Given the description of an element on the screen output the (x, y) to click on. 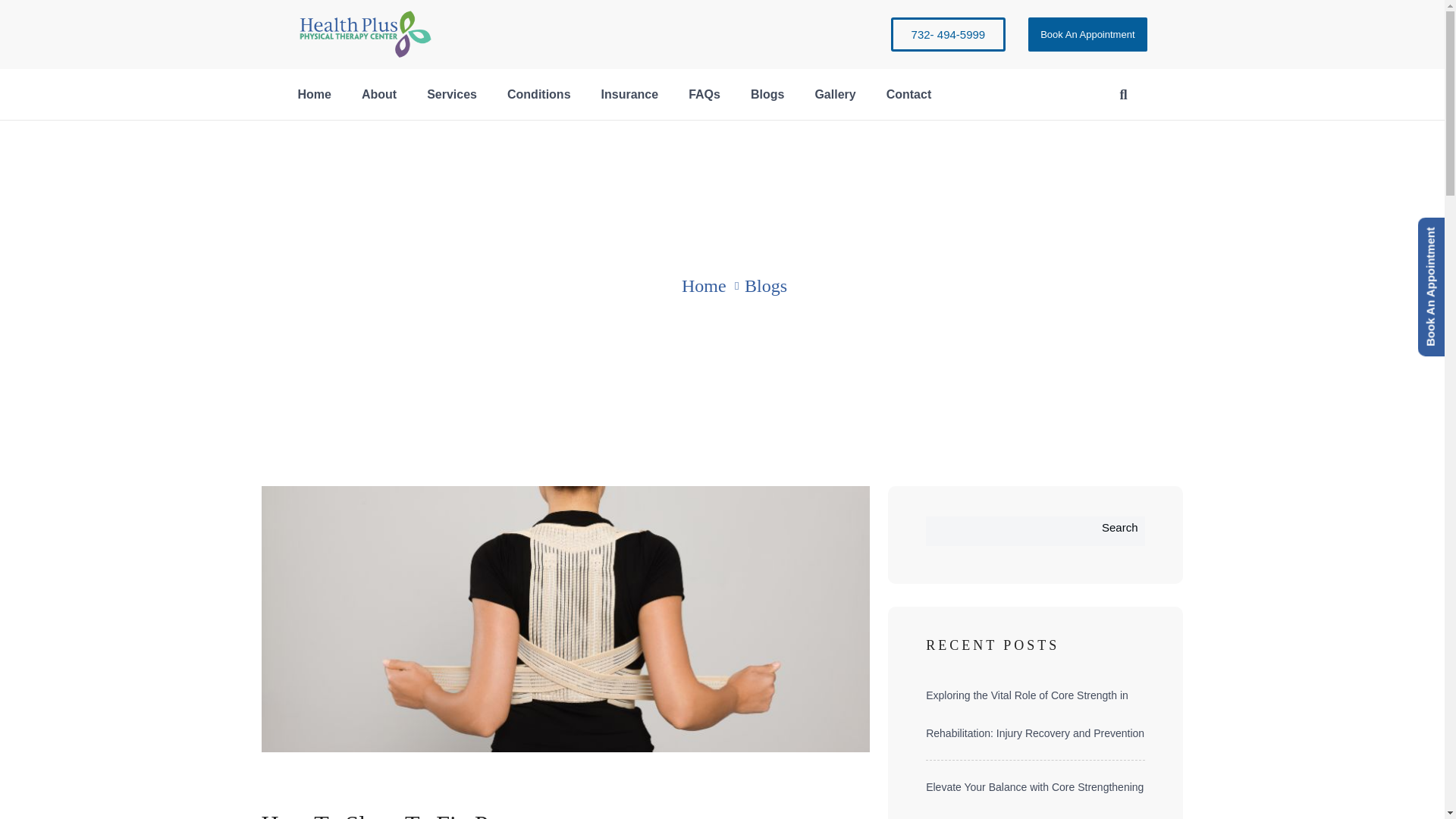
Insurance (630, 94)
About (379, 94)
Blogs (767, 94)
Book An Appointment (1087, 34)
Services (452, 94)
FAQs (703, 94)
Conditions (539, 94)
Contact (908, 94)
Home (314, 94)
732- 494-5999 (948, 34)
